Given the description of an element on the screen output the (x, y) to click on. 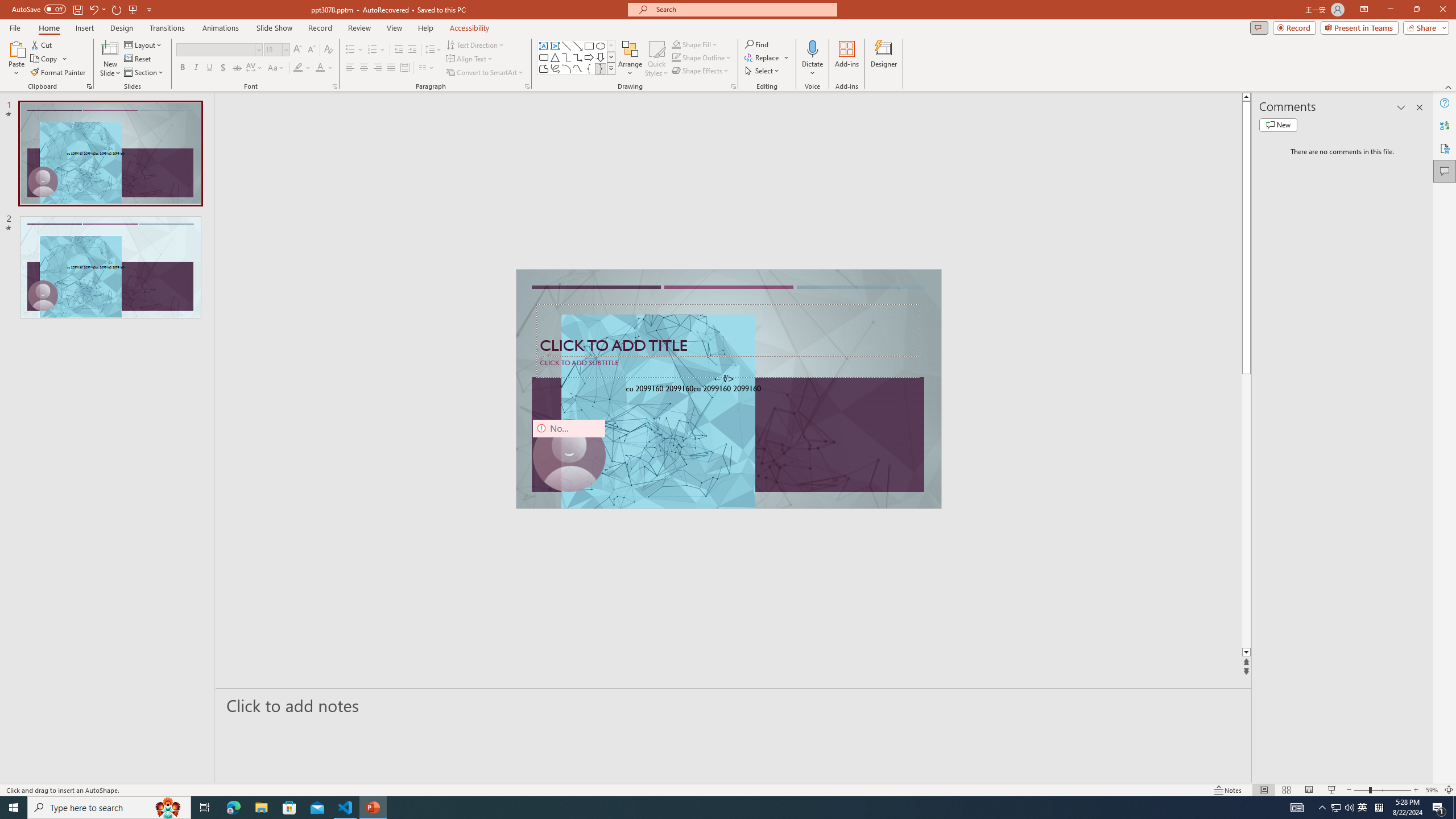
Font Size (273, 49)
Line Arrow (577, 45)
Text Highlight Color (302, 67)
Shape Effects (700, 69)
Arrow: Down (600, 57)
Connector: Elbow (566, 57)
Find... (756, 44)
Accessibility (1444, 147)
Arrange (630, 58)
